Given the description of an element on the screen output the (x, y) to click on. 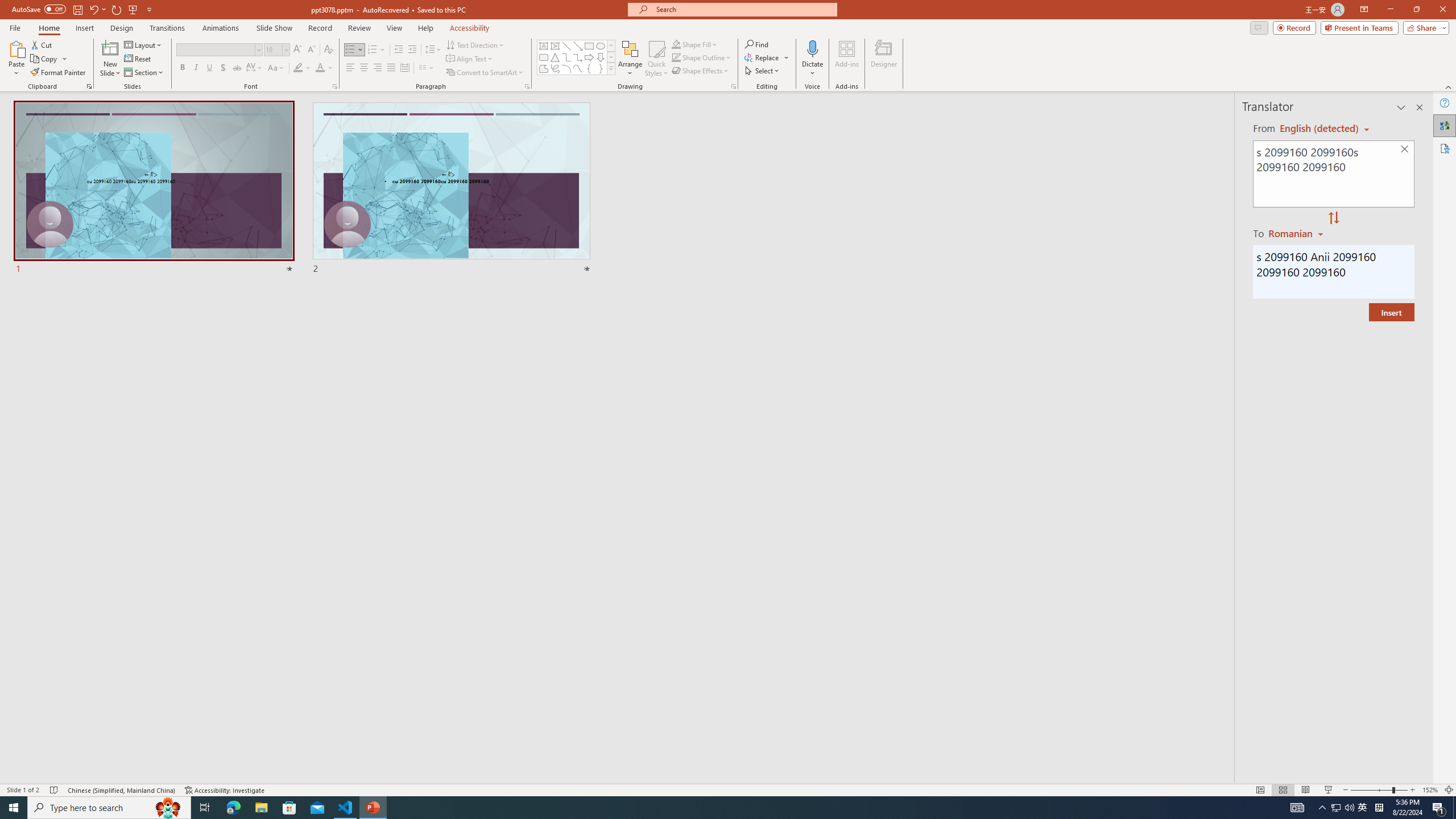
Font Color Red (320, 67)
Columns (426, 67)
Italic (195, 67)
Quick Styles (656, 58)
